Given the description of an element on the screen output the (x, y) to click on. 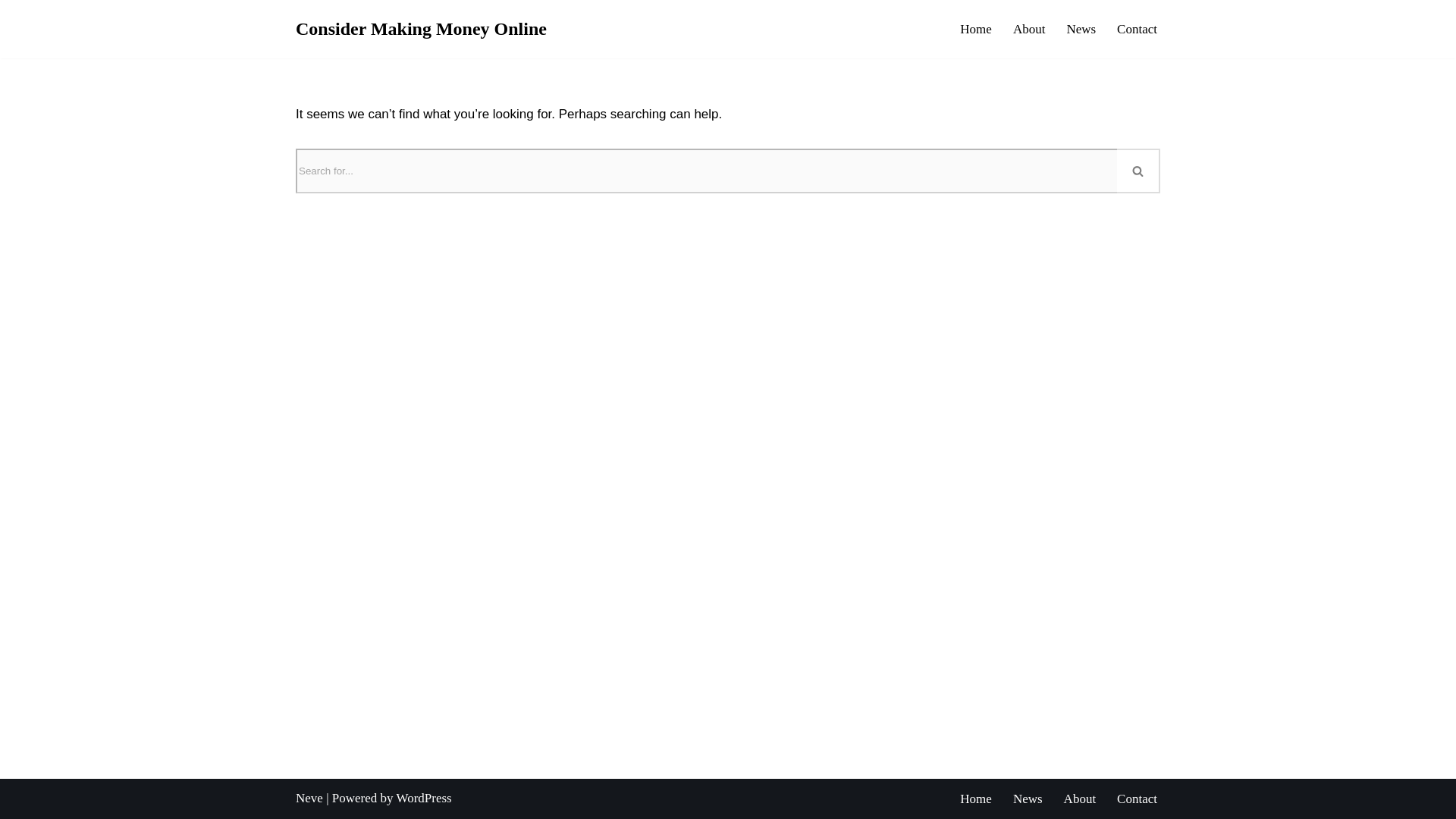
Neve (309, 798)
Contact (1136, 798)
Home (975, 798)
WordPress (423, 798)
Home (975, 28)
News (1027, 798)
Contact (1136, 28)
News (1080, 28)
About (1080, 798)
Consider Making Money Online (421, 29)
